Given the description of an element on the screen output the (x, y) to click on. 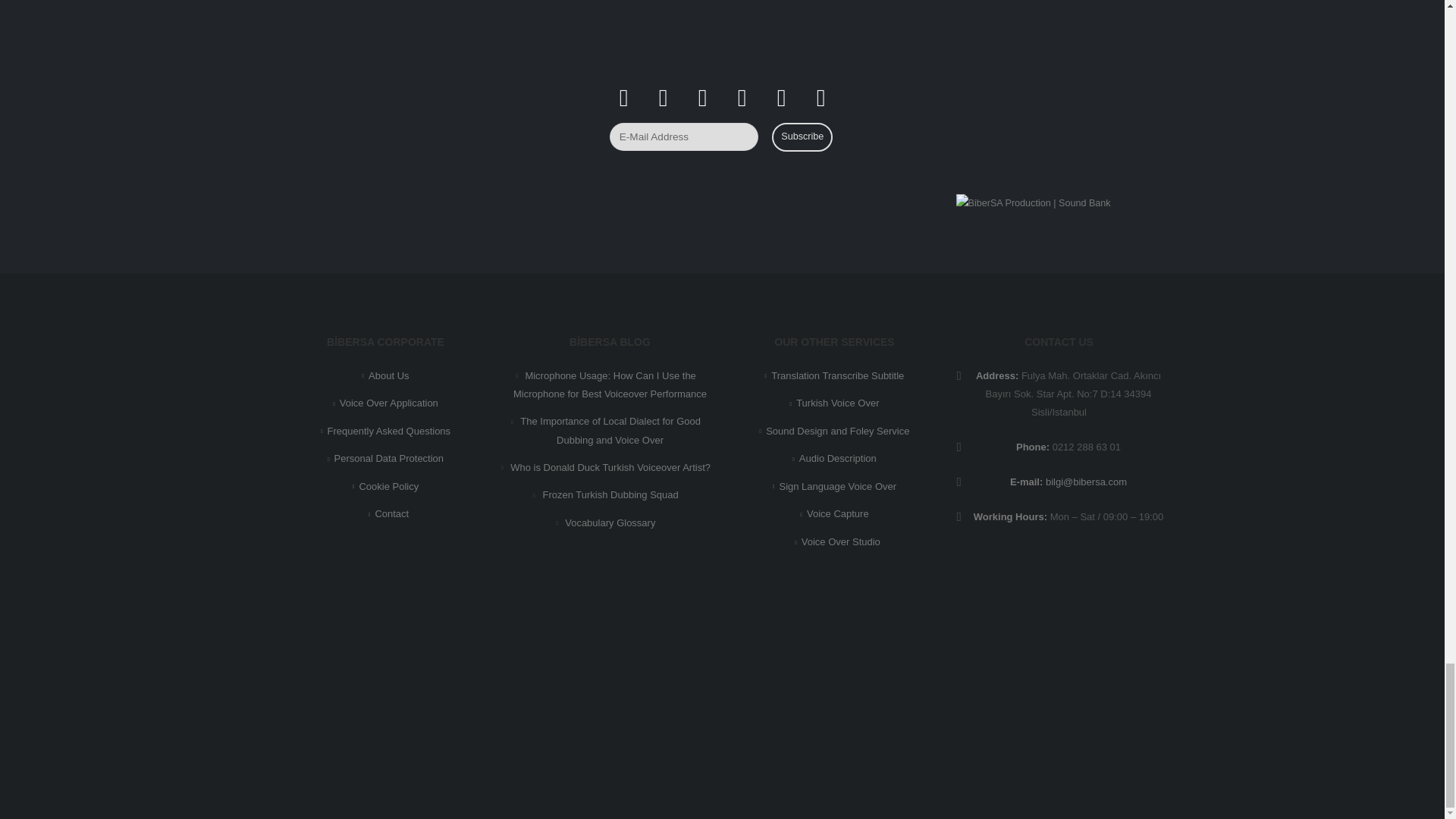
Subscribe (801, 136)
